Given the description of an element on the screen output the (x, y) to click on. 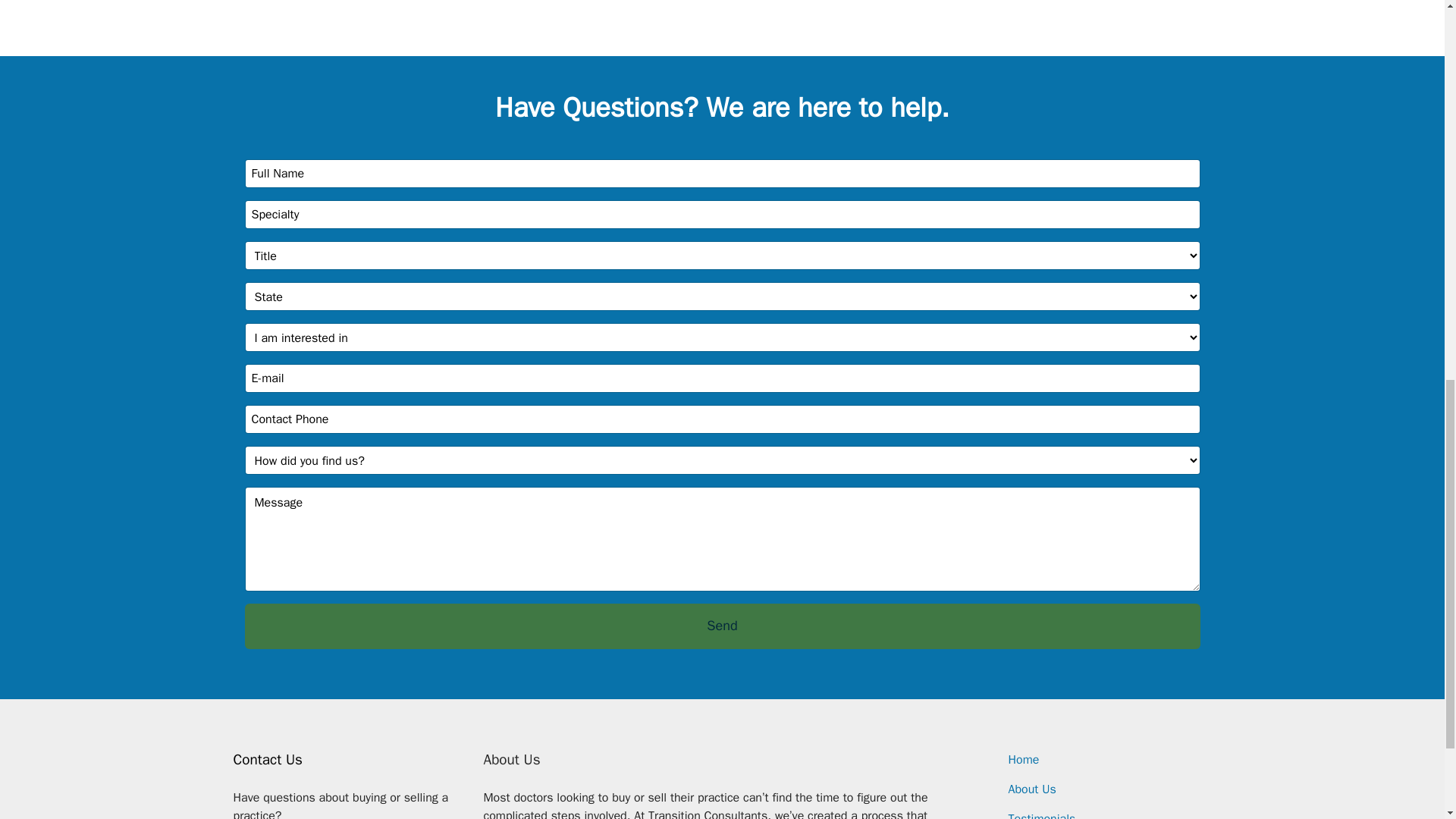
Testimonials (1042, 815)
Home (1024, 759)
Send (721, 626)
Contact Us (267, 760)
About Us (1033, 789)
